Given the description of an element on the screen output the (x, y) to click on. 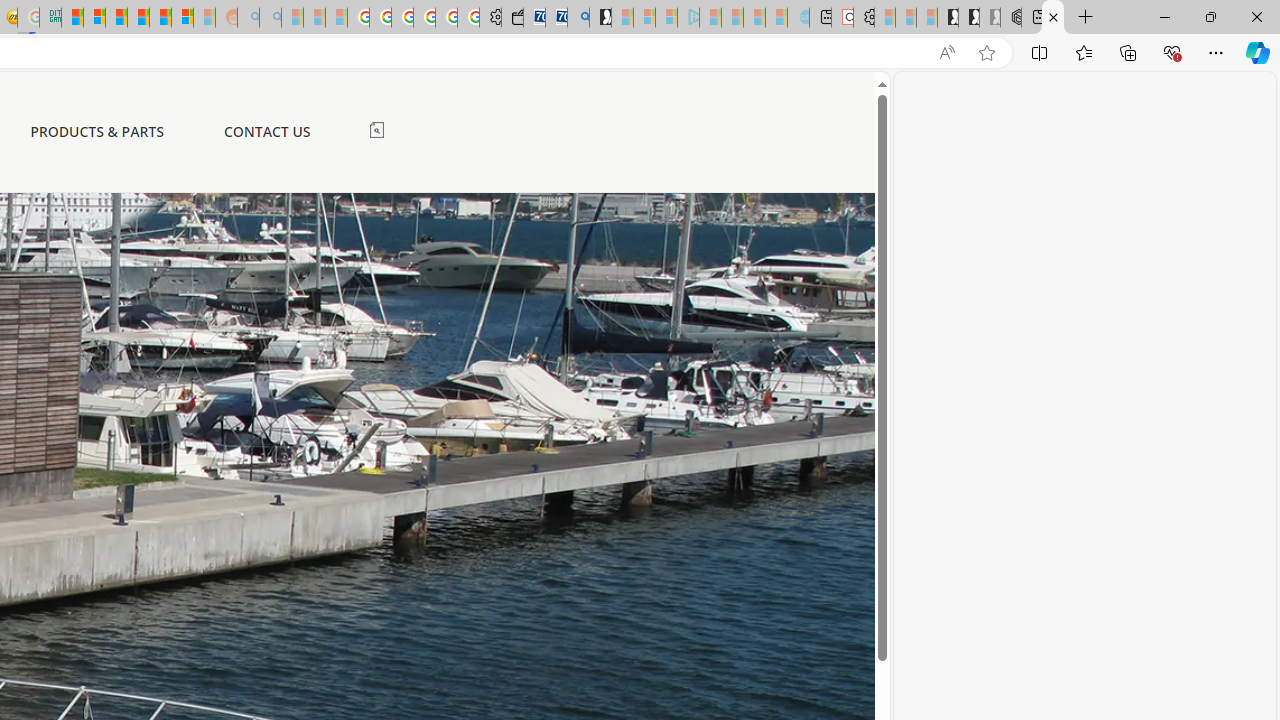
CONTACT US (266, 131)
